Given the description of an element on the screen output the (x, y) to click on. 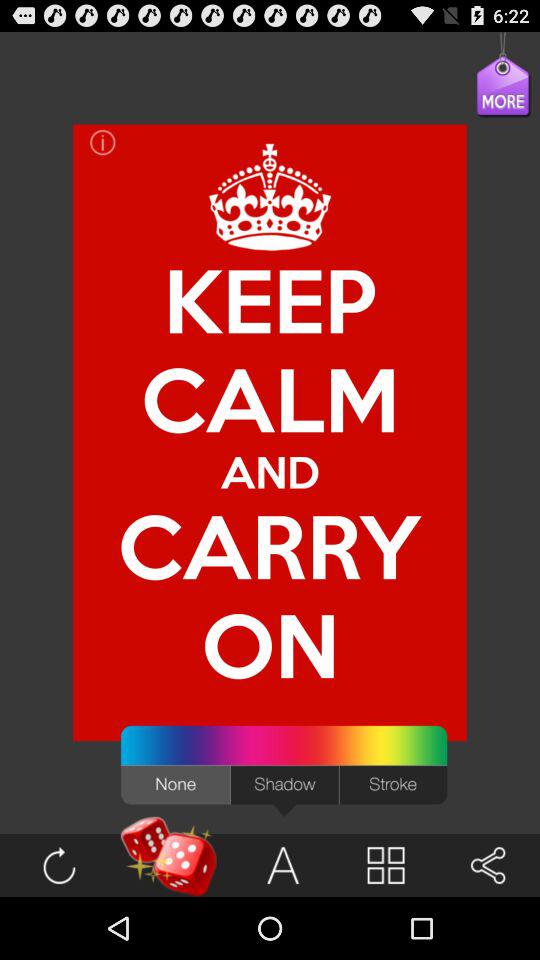
open the icon at the top right corner (487, 96)
